Given the description of an element on the screen output the (x, y) to click on. 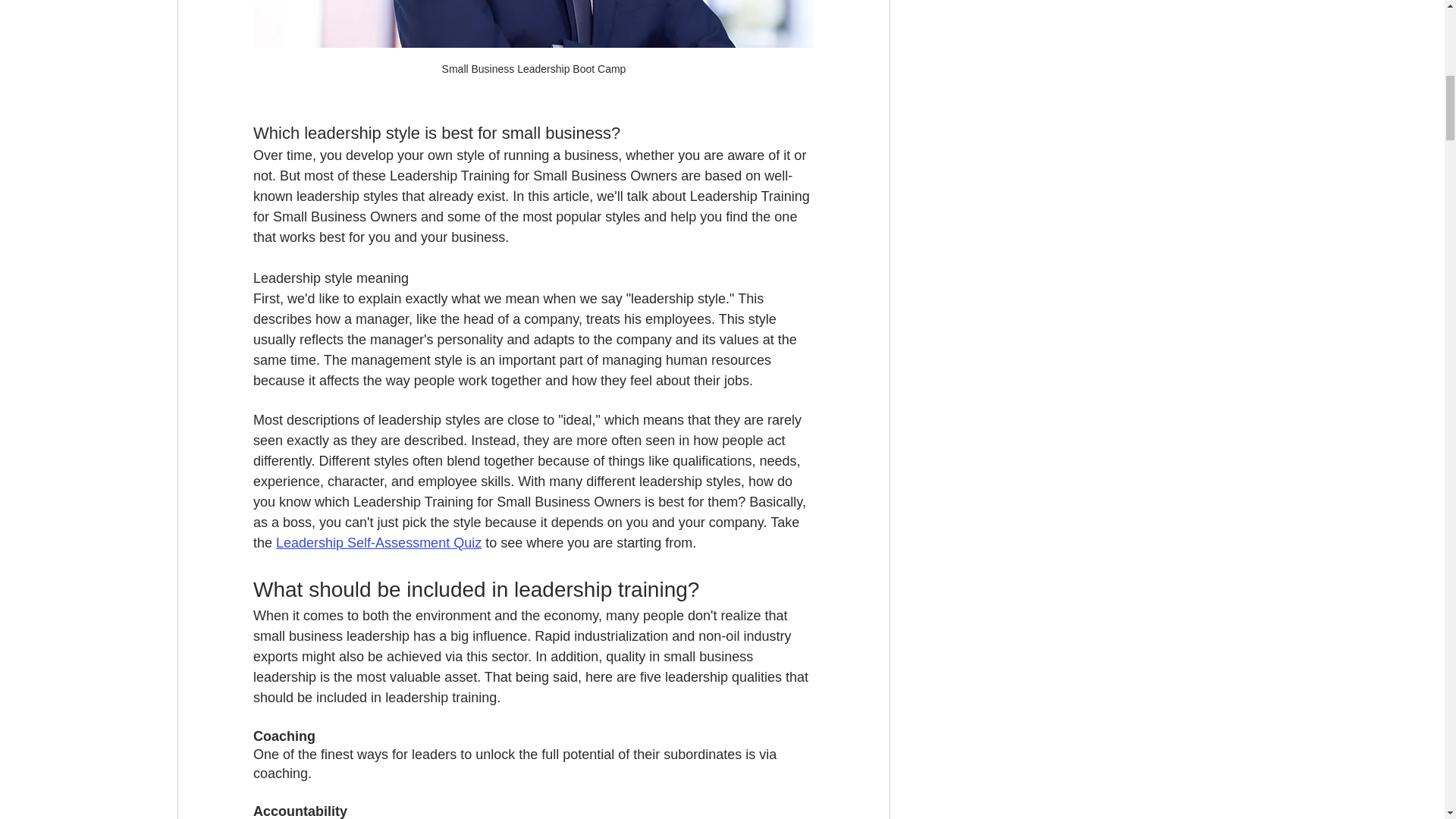
Leadership Self-Assessment Quiz (378, 542)
